Given the description of an element on the screen output the (x, y) to click on. 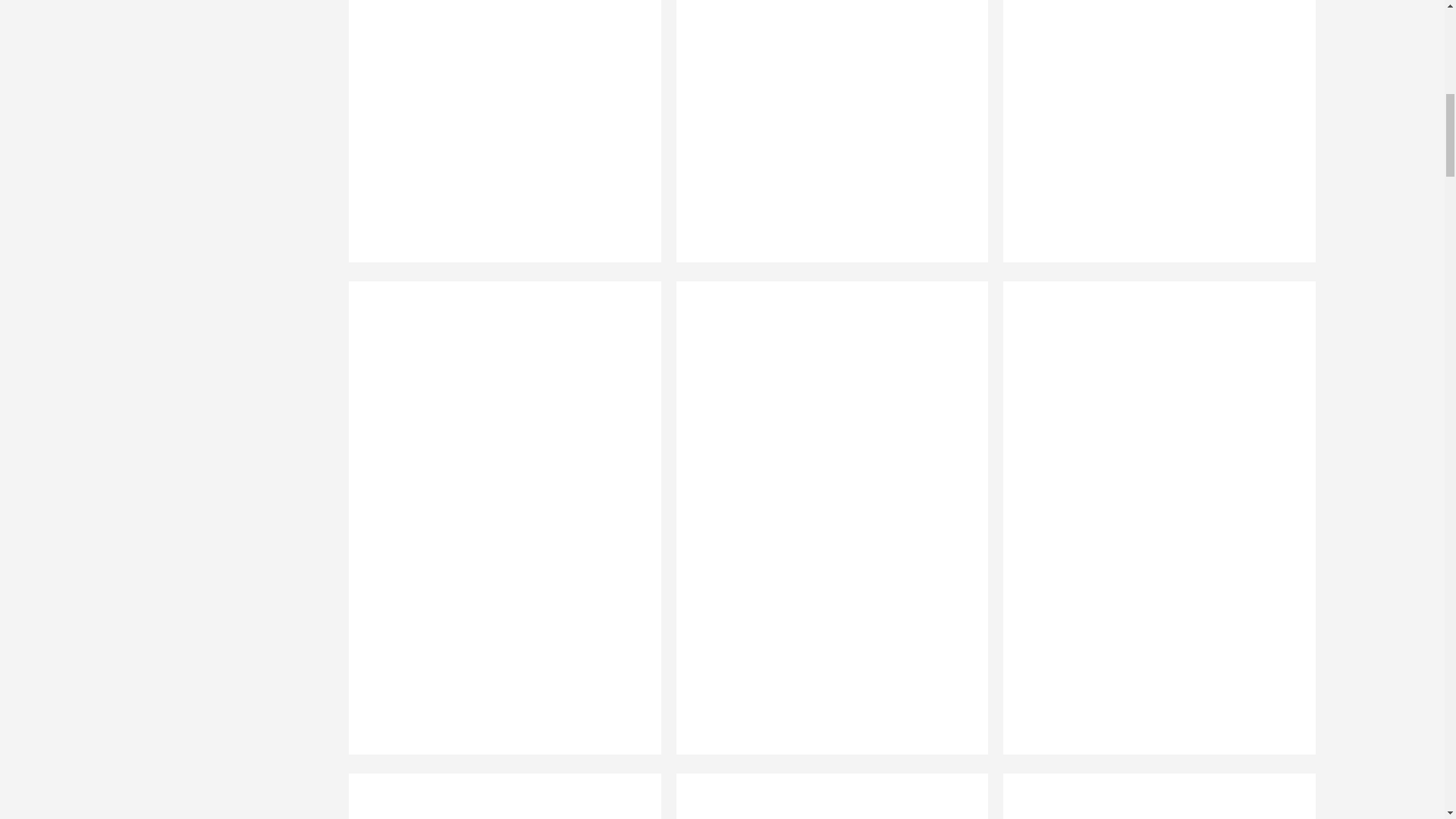
0 (497, 140)
0 (497, 796)
0 (1152, 140)
0 (824, 140)
0 (1152, 796)
0 (824, 796)
